Given the description of an element on the screen output the (x, y) to click on. 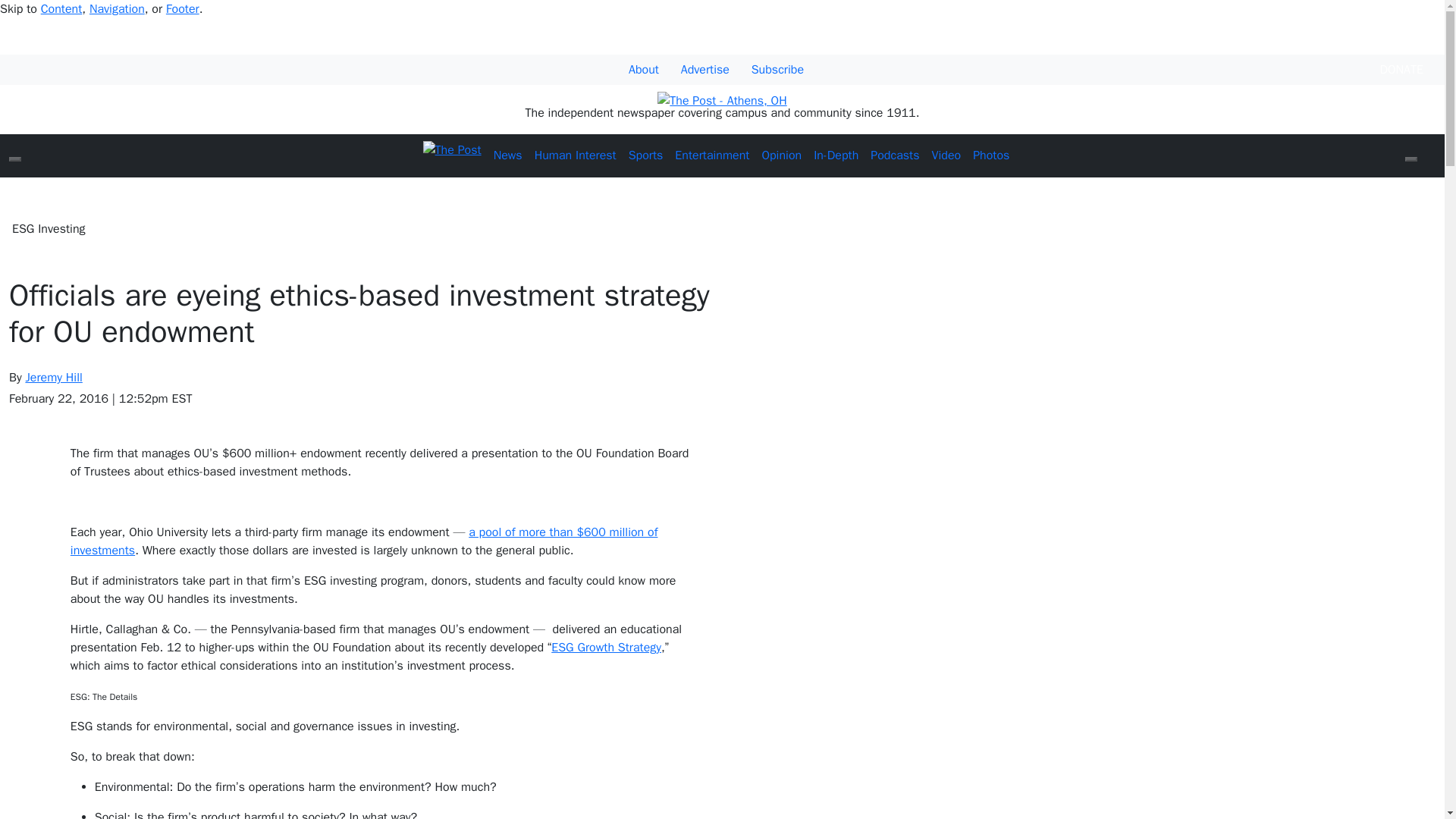
About (643, 69)
Subscribe (777, 69)
Podcasts (894, 155)
Advertise (705, 69)
Human Interest (575, 155)
Human Interest (575, 155)
Photos (990, 155)
Video (945, 155)
Sports (646, 155)
Podcasts (894, 155)
Opinion (781, 155)
Footer (182, 8)
Opinion (781, 155)
Sports (646, 155)
In-Depth (836, 155)
